Given the description of an element on the screen output the (x, y) to click on. 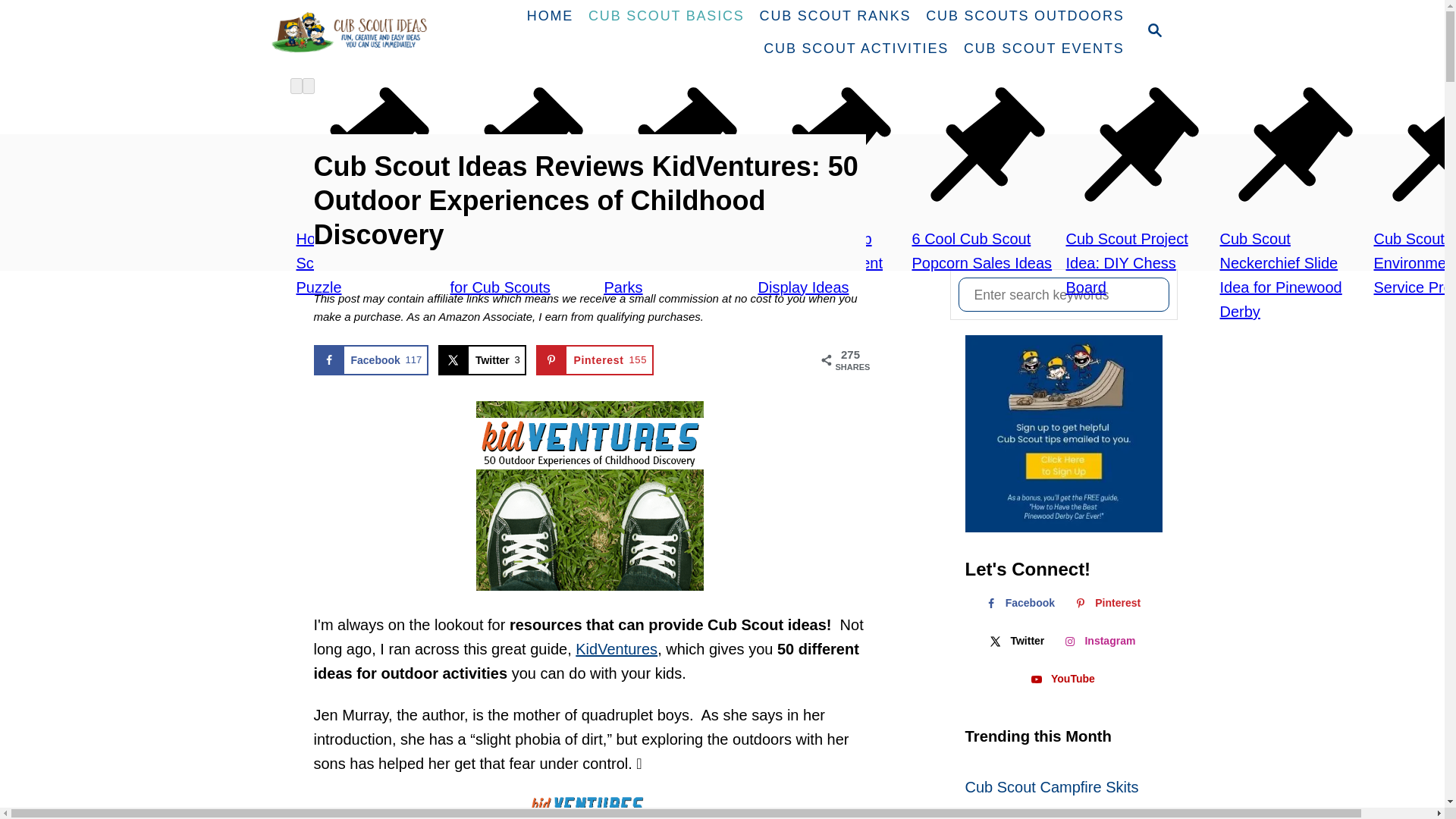
Share on X (481, 359)
Save to Pinterest (593, 359)
Search for: (1063, 294)
CUB SCOUT ACTIVITIES (855, 47)
Follow on Facebook (1018, 603)
CUB SCOUTS OUTDOORS (1024, 16)
Cub Scout Ideas (354, 32)
Share on Facebook (371, 359)
SEARCH (1153, 31)
CUB SCOUT RANKS (835, 16)
CUB SCOUT BASICS (666, 16)
HOME (549, 16)
